Given the description of an element on the screen output the (x, y) to click on. 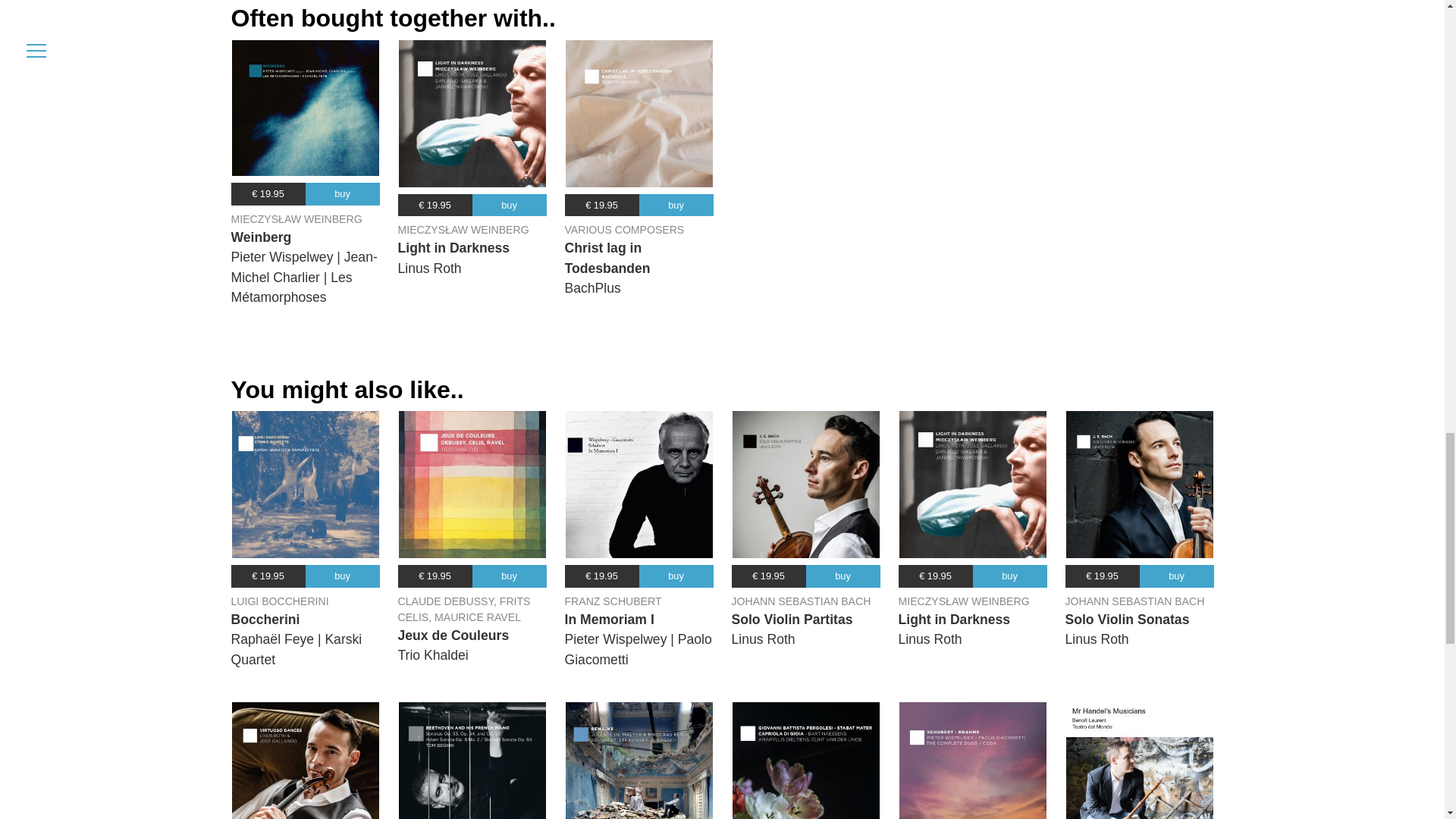
Beethoven and his French Piano - Tom Beghin (472, 760)
Christ lag in Todesbanden - BachPlus (639, 113)
Solo Violin Partitas - Linus Roth (805, 484)
Light in Darkness - Linus Roth (472, 113)
Jeux de Couleurs - Trio Khaldei (472, 484)
Stabat Mater - Capriola di Gioia (805, 760)
Light in Darkness - Linus Roth (972, 484)
Solo Violin Sonatas - Linus Roth (1138, 484)
